Given the description of an element on the screen output the (x, y) to click on. 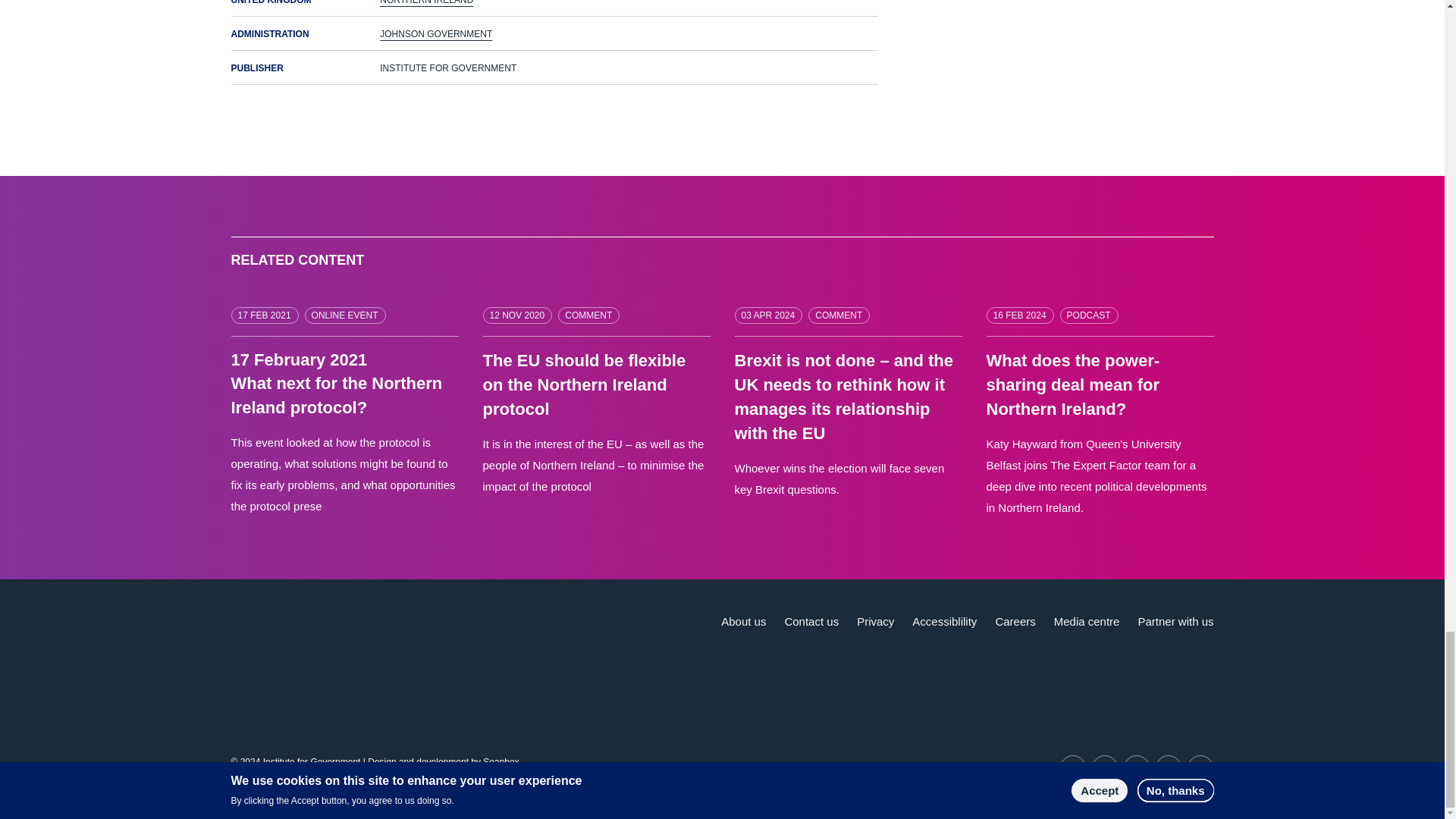
Visit IfG Facebook profile (1168, 768)
Visit IfG Twitter profile (1072, 768)
Visit IfG LinkedIn profile (1105, 768)
Return to the homepage (321, 639)
Visit IfG Instagram profile (1200, 768)
Visit IfG YouTube profile (1137, 768)
